Given the description of an element on the screen output the (x, y) to click on. 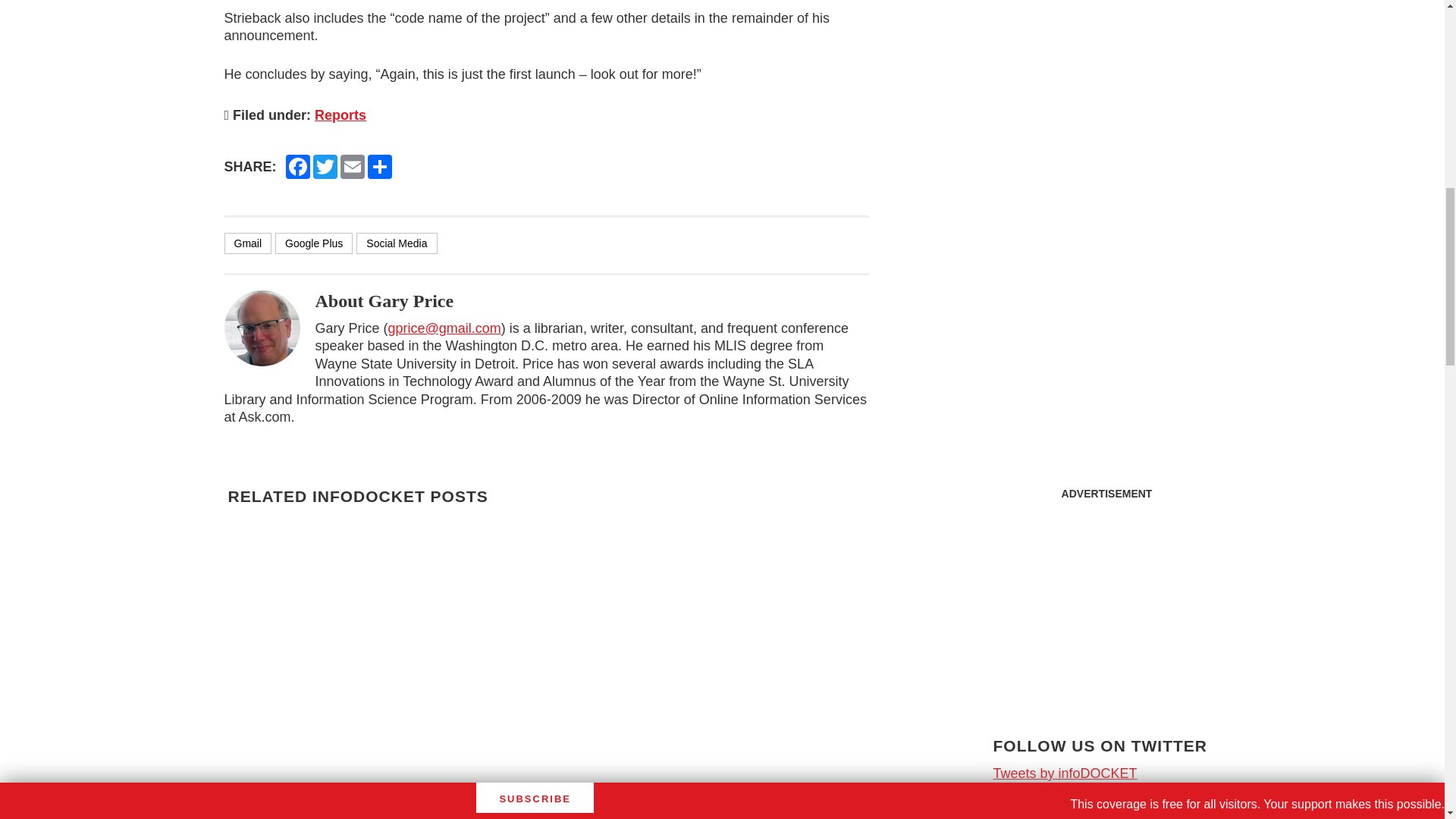
3rd party ad content (1106, 603)
3rd party ad content (1106, 91)
